Given the description of an element on the screen output the (x, y) to click on. 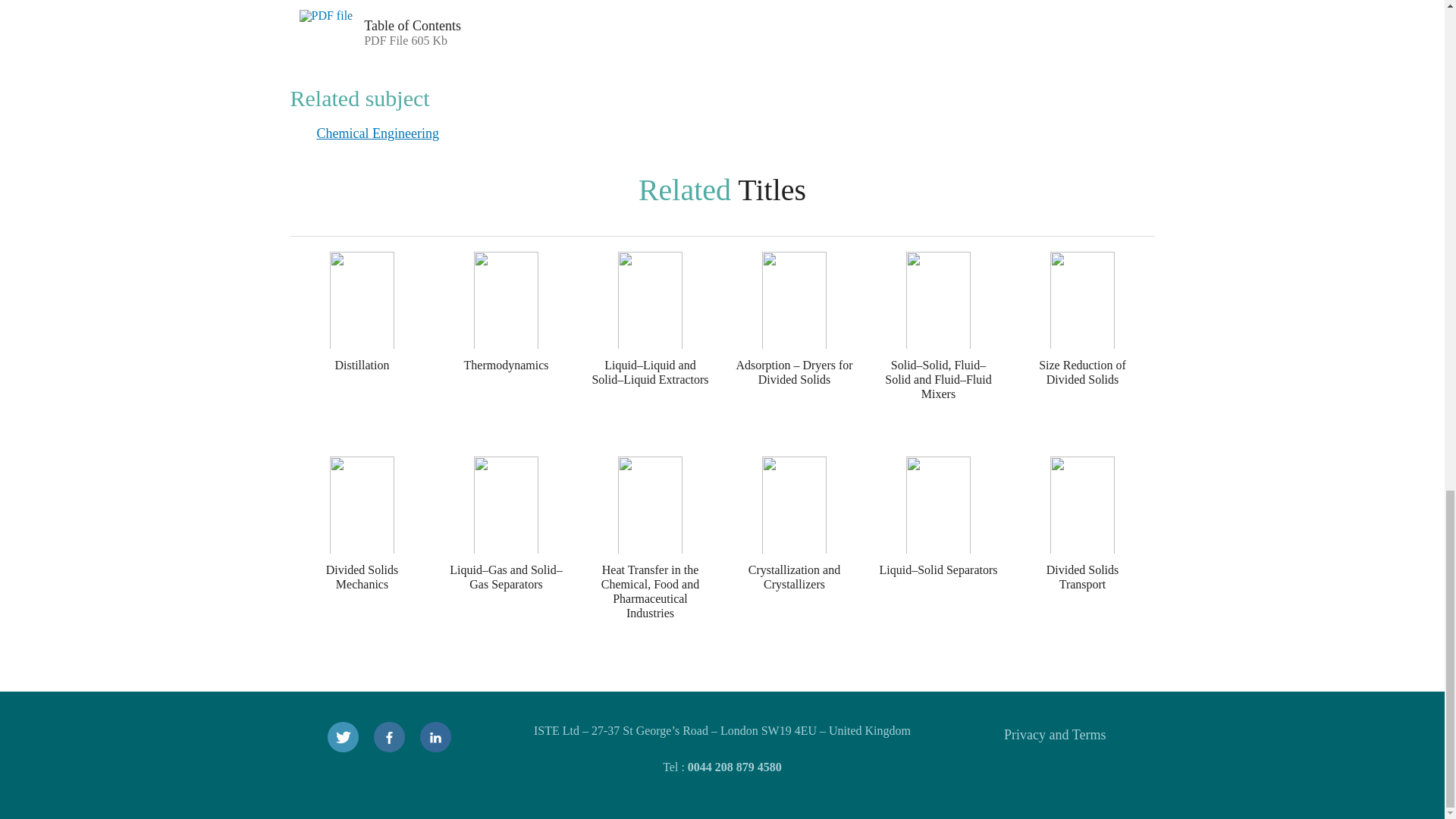
Chemical Engineering (378, 133)
Privacy and Terms (1054, 734)
Facebook (389, 736)
Download PDF file (326, 28)
